Given the description of an element on the screen output the (x, y) to click on. 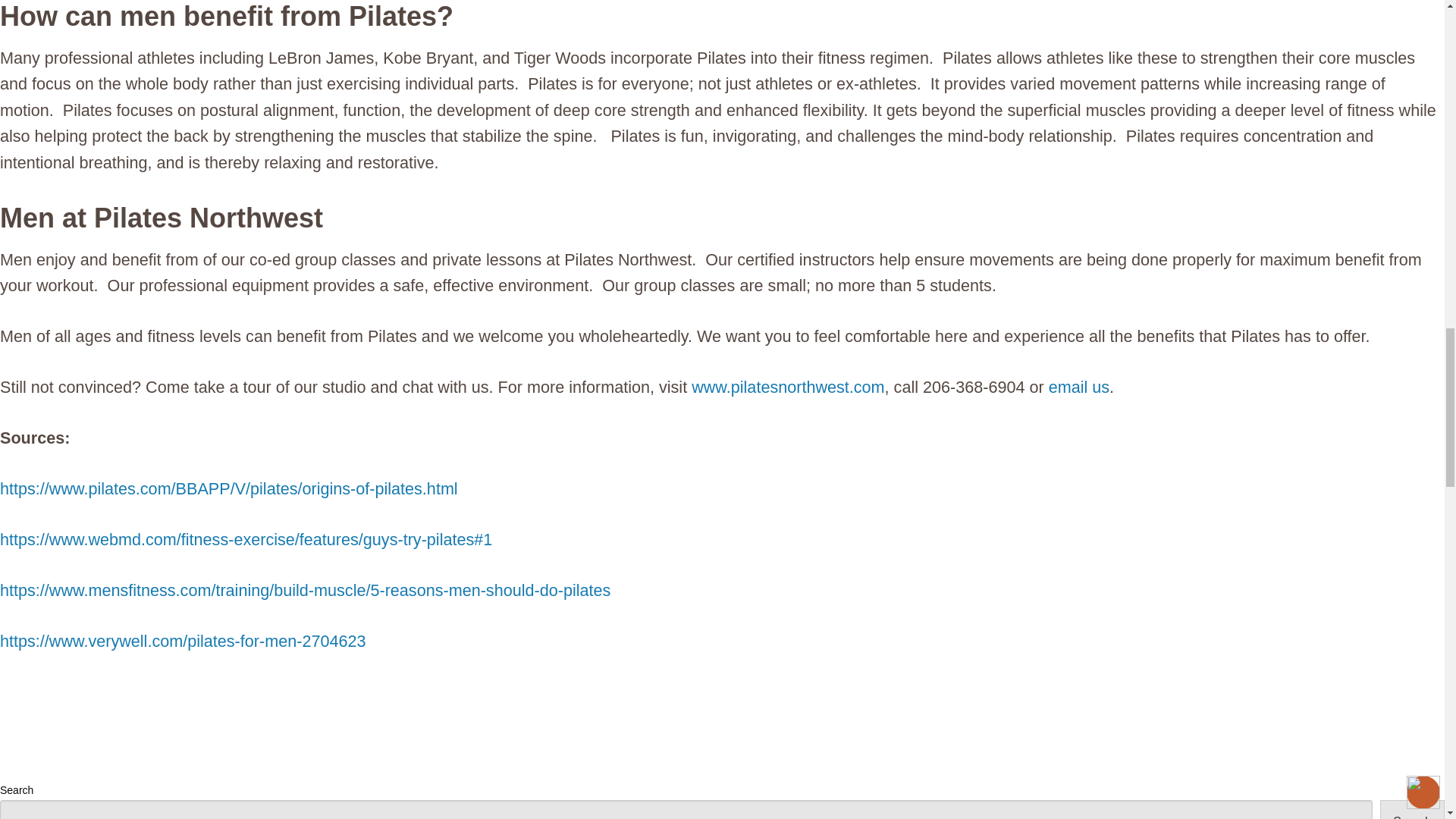
www.pilatesnorthwest.com (787, 386)
email us (1078, 386)
